Given the description of an element on the screen output the (x, y) to click on. 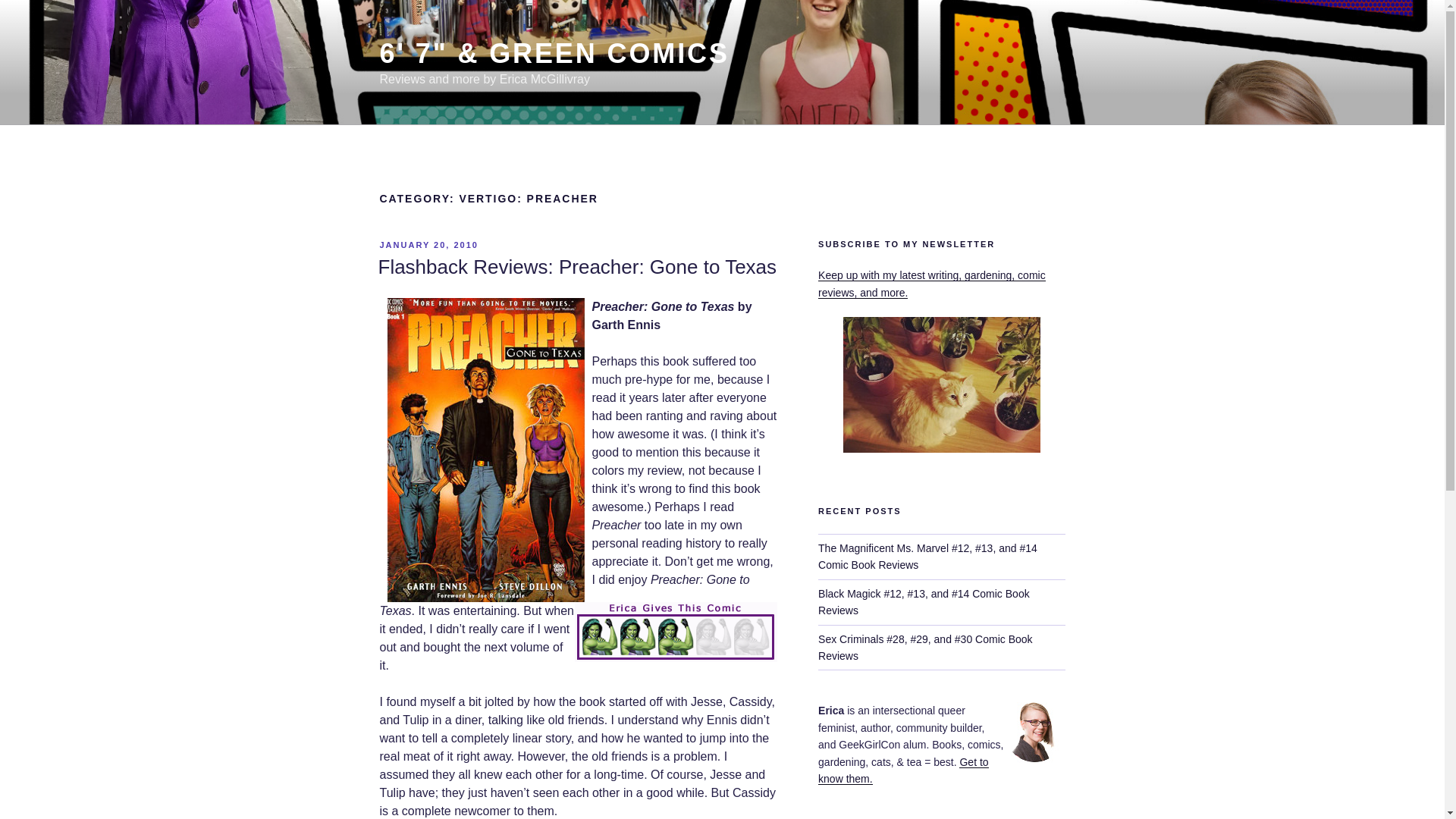
threestar (676, 631)
Get to know them. (903, 769)
Flashback Reviews: Preacher: Gone to Texas (576, 266)
JANUARY 20, 2010 (427, 244)
